Given the description of an element on the screen output the (x, y) to click on. 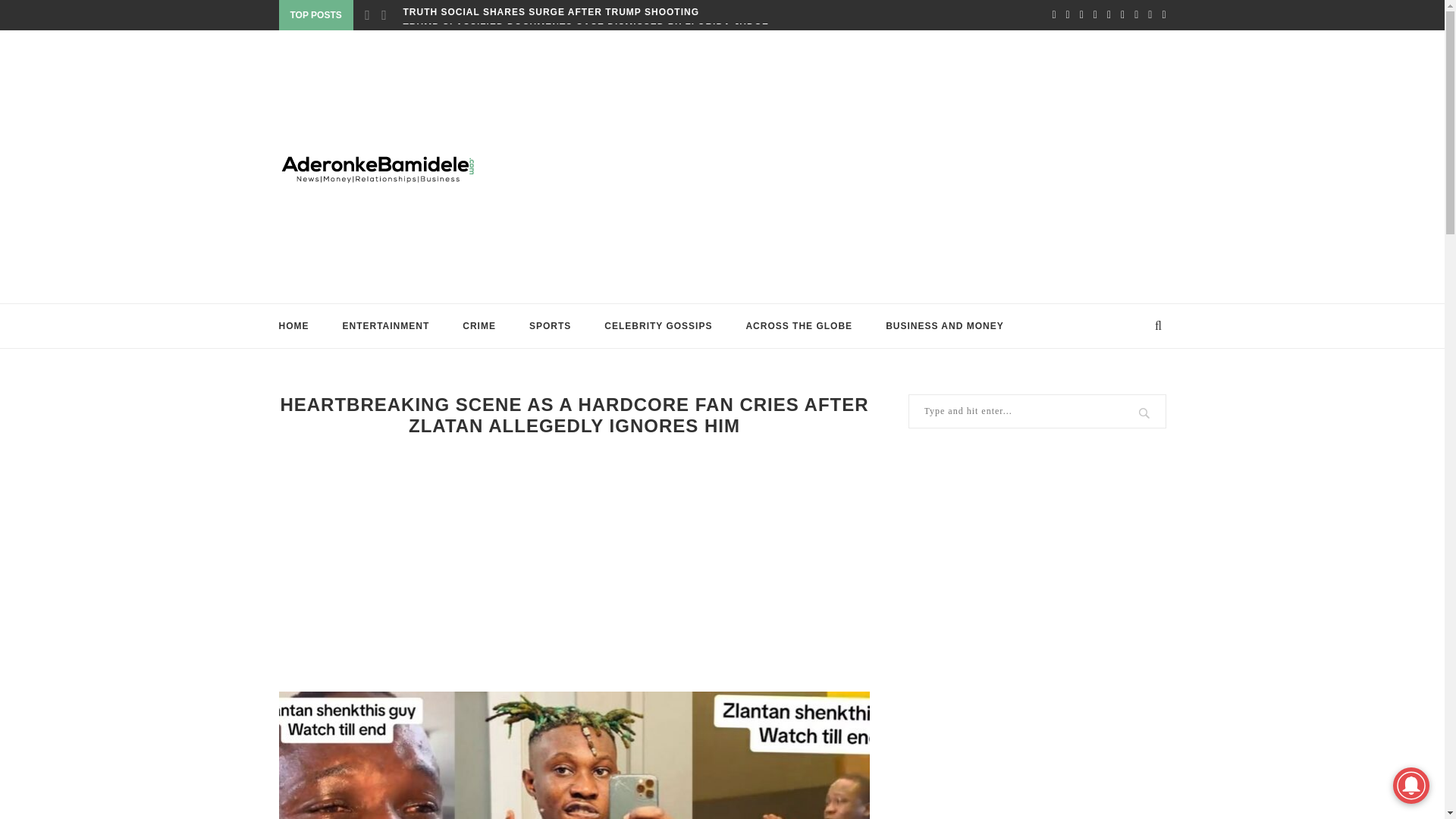
Advertisement (874, 166)
Advertisement (574, 562)
TRUMP CLASSIFIED DOCUMENTS CASE DISMISSED BY FLORIDA JUDGE (585, 27)
TRUTH SOCIAL SHARES SURGE AFTER TRUMP SHOOTING (550, 11)
